Given the description of an element on the screen output the (x, y) to click on. 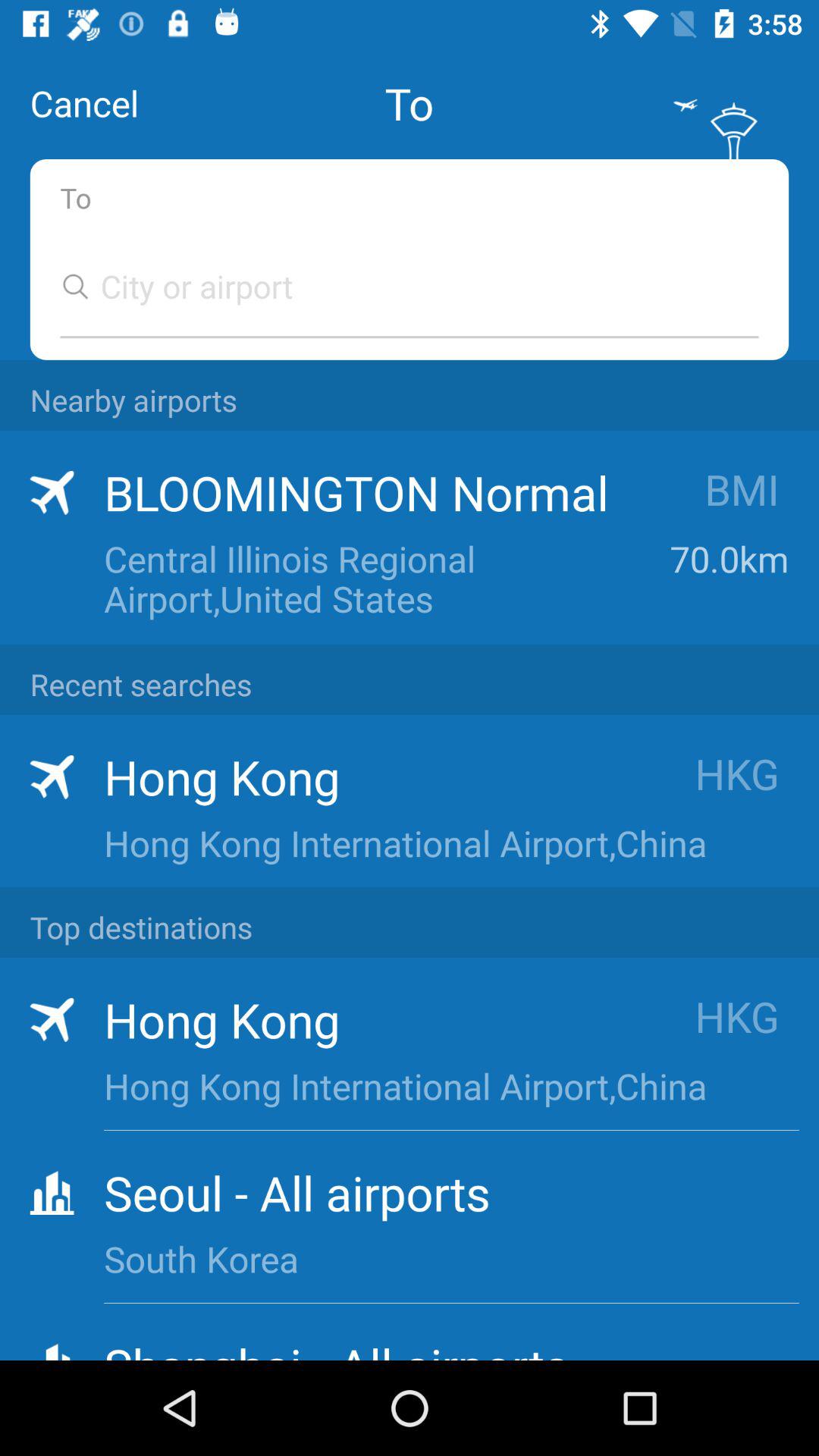
input search query (394, 286)
